Given the description of an element on the screen output the (x, y) to click on. 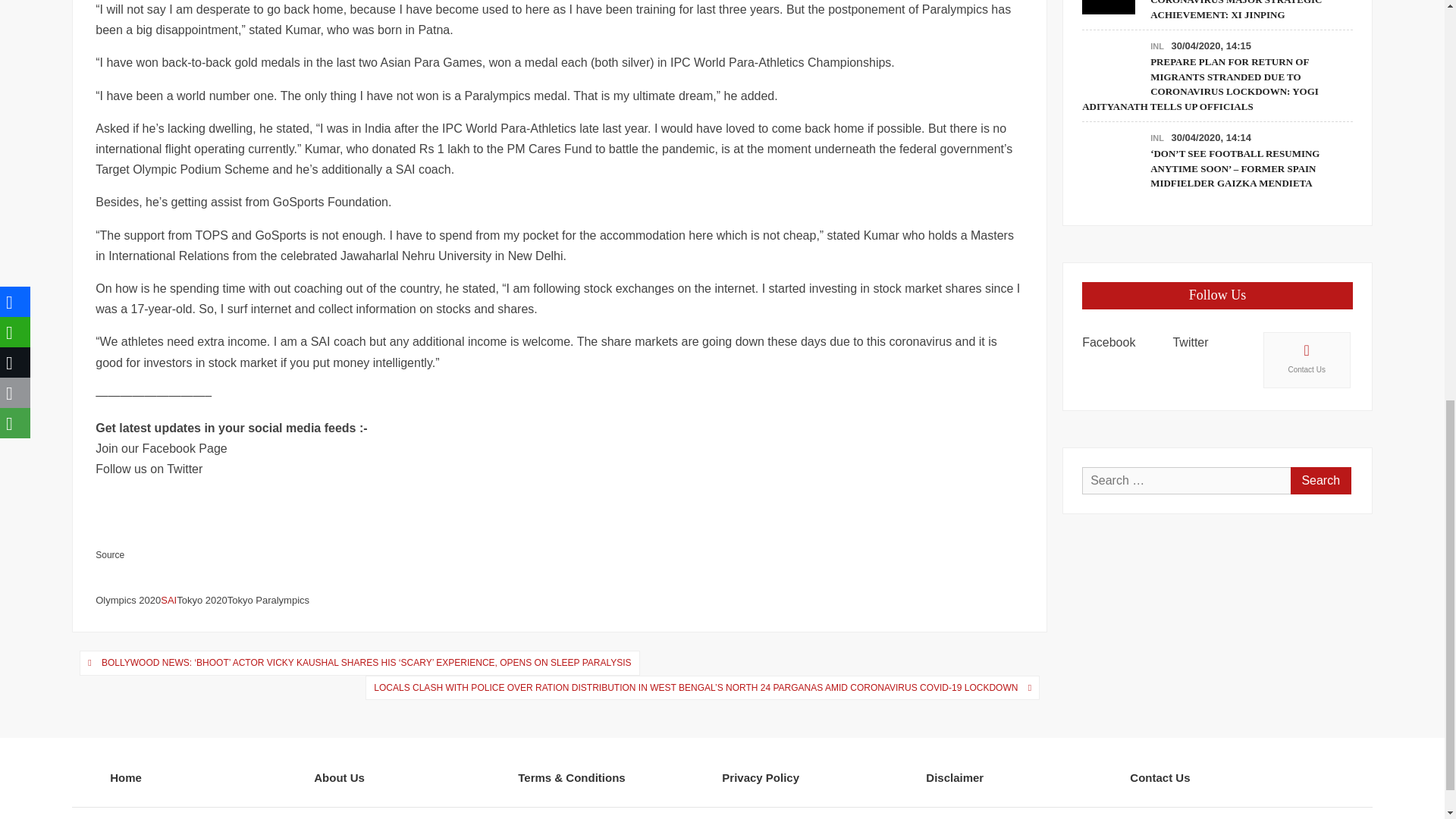
Search (1320, 480)
Search (1320, 480)
INL (1156, 45)
INL (1156, 137)
SAI (168, 600)
Contact Us (1307, 360)
